Given the description of an element on the screen output the (x, y) to click on. 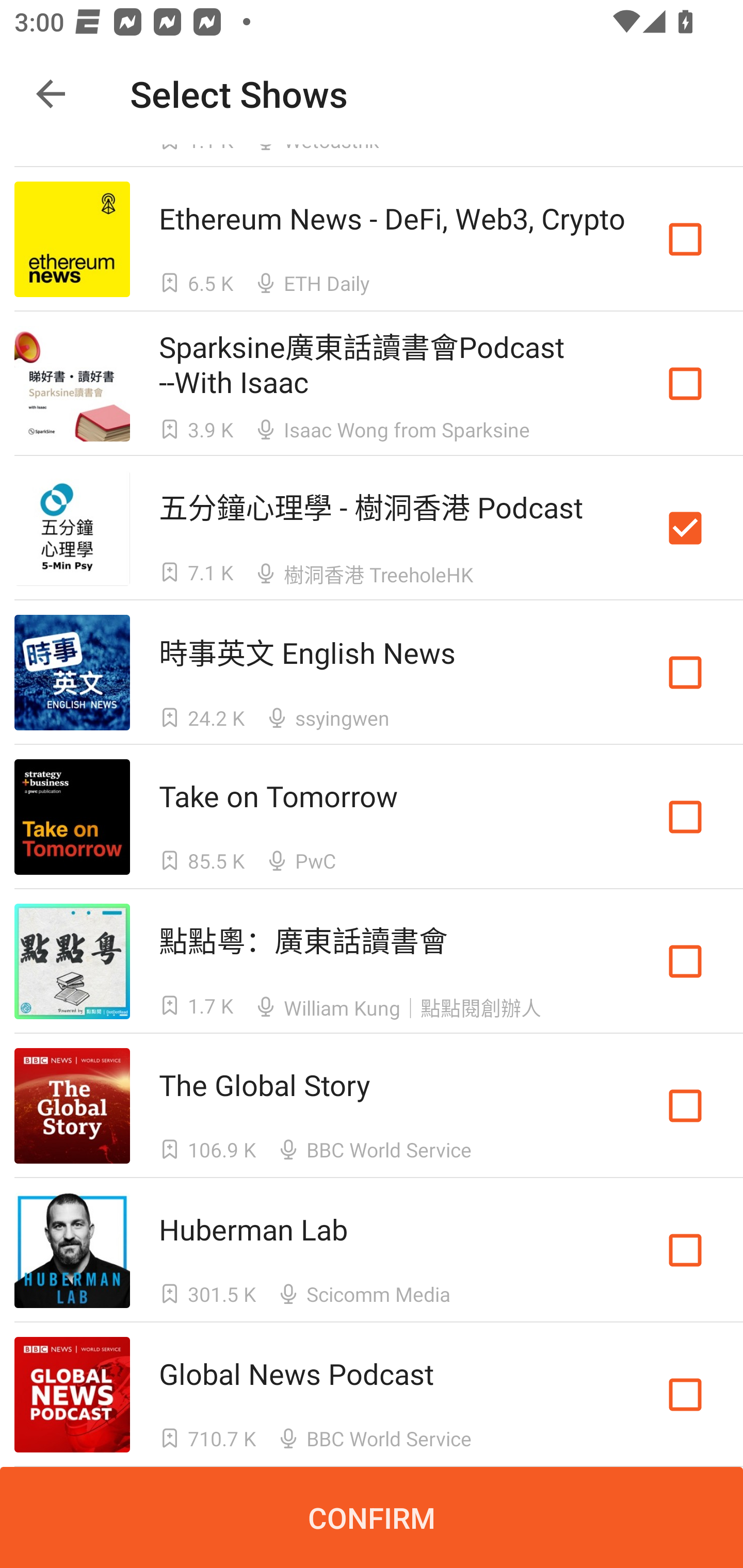
Navigate up (50, 93)
Take on Tomorrow Take on Tomorrow  85.5 K  PwC (371, 816)
CONFIRM (371, 1517)
